Given the description of an element on the screen output the (x, y) to click on. 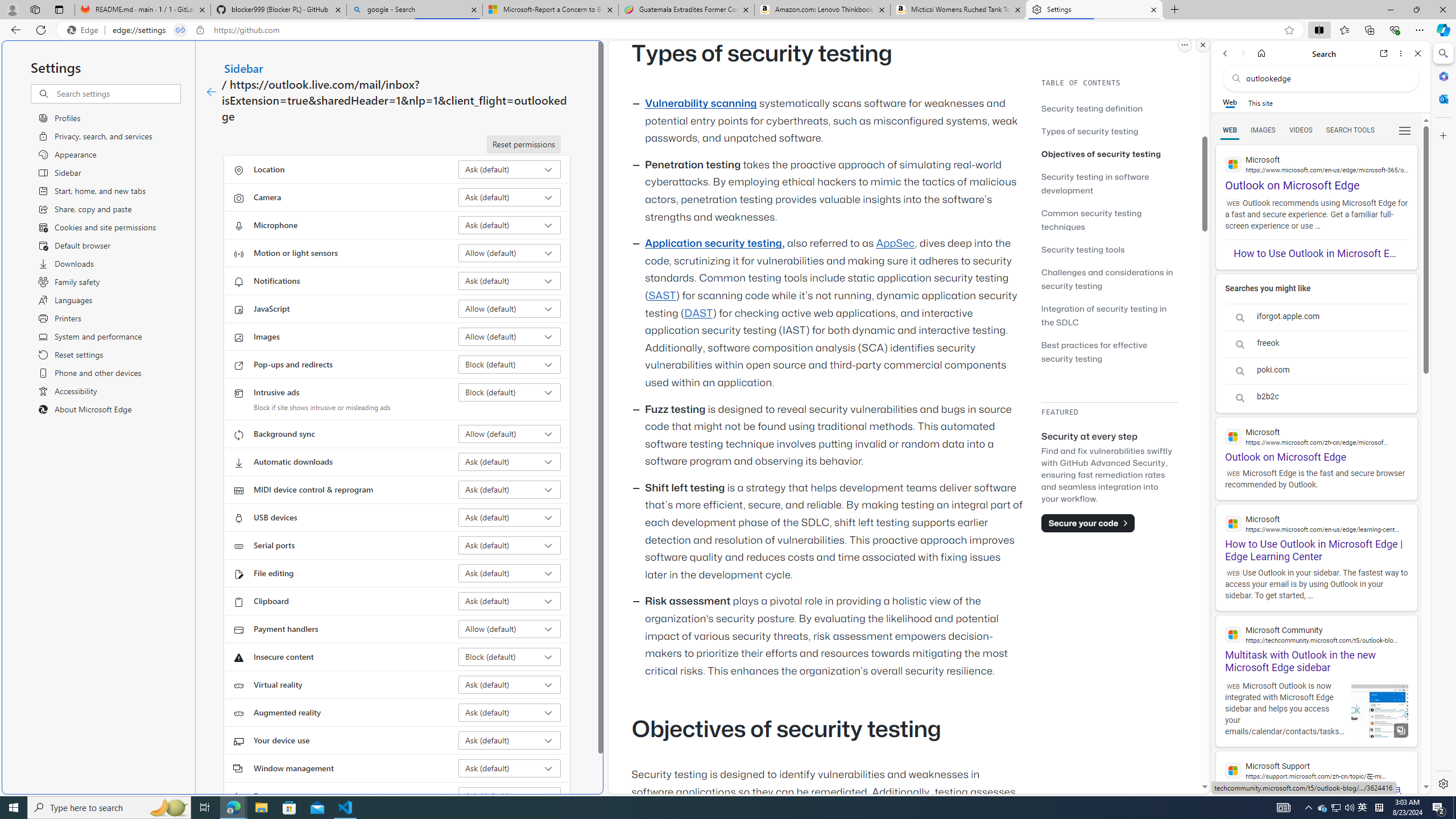
Camera Ask (default) (509, 197)
Search settings (117, 93)
MIDI device control & reprogram Ask (default) (509, 489)
Integration of security testing in the SDLC (1109, 315)
Augmented reality Ask (default) (509, 712)
Notifications Ask (default) (509, 280)
Go back to Sidebar page. (210, 91)
freeok (1315, 343)
poki.com (1315, 370)
